Given the description of an element on the screen output the (x, y) to click on. 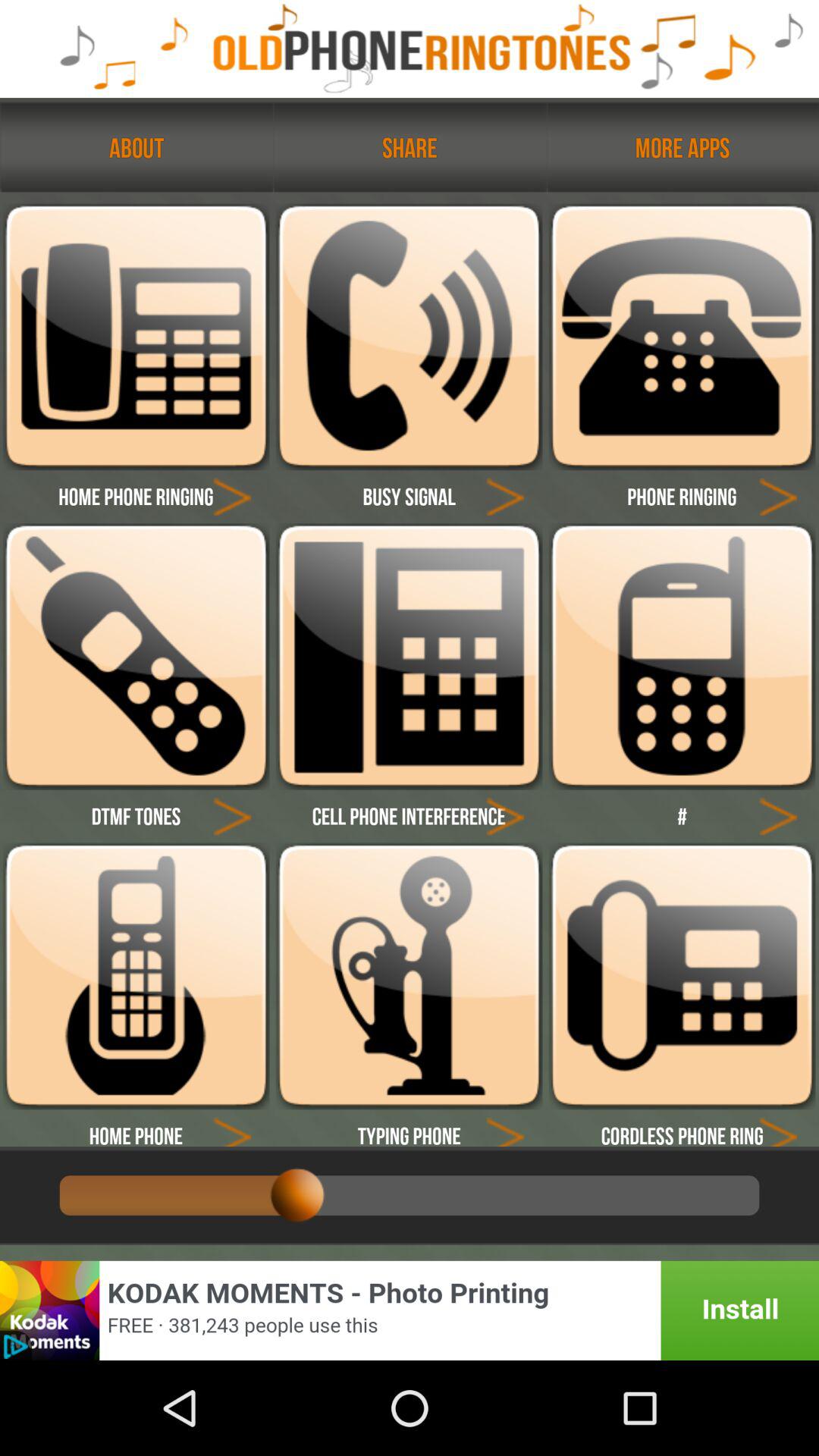
set busy signal as ringtone (408, 336)
